Given the description of an element on the screen output the (x, y) to click on. 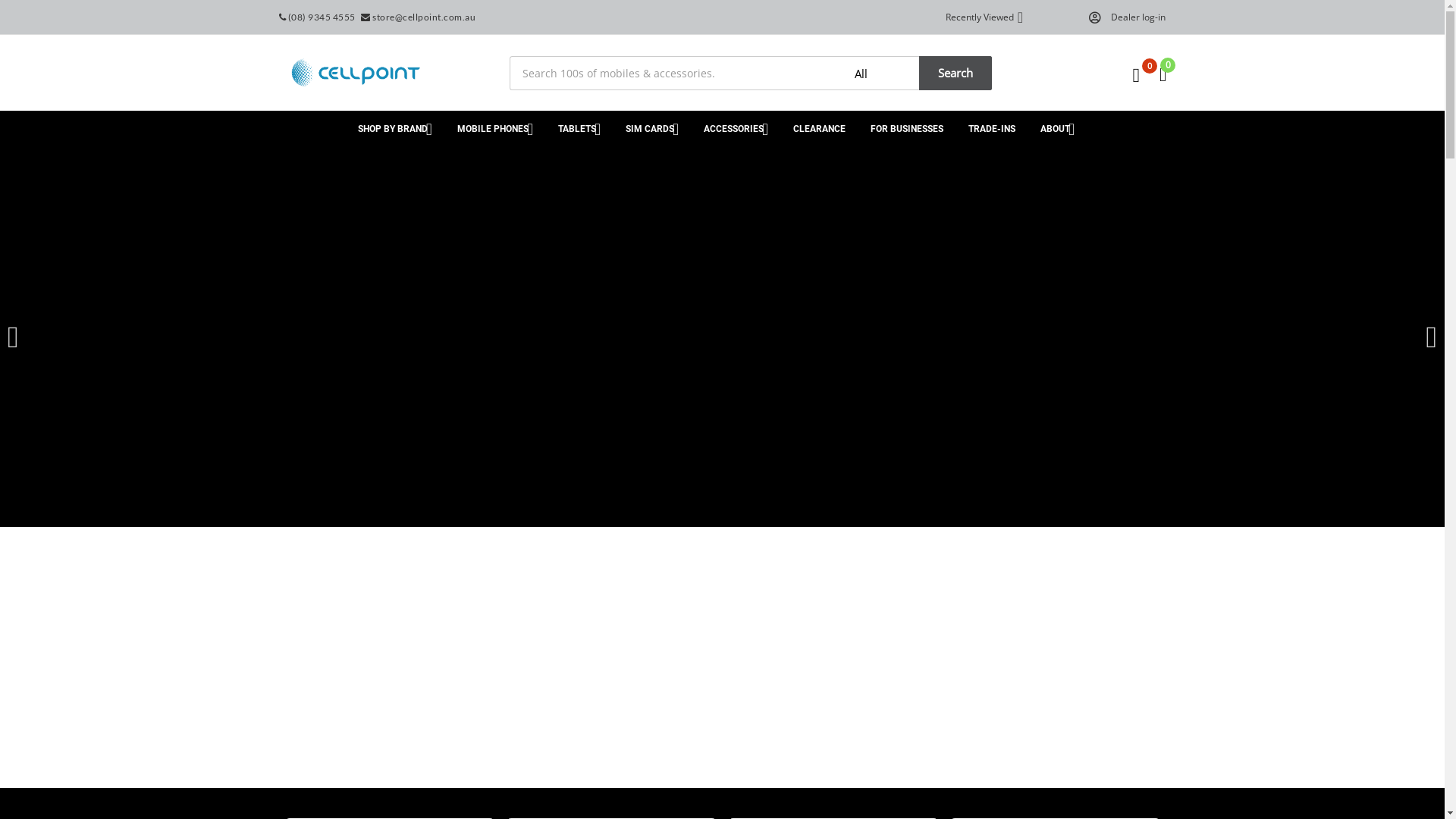
ACCESSORIES Element type: text (726, 128)
TRADE-INS Element type: text (996, 128)
TABLETS Element type: text (574, 128)
MOBILE PHONES Element type: text (491, 128)
0 Element type: text (1135, 74)
(08) 9345 4555 Element type: text (318, 17)
FOR BUSINESSES Element type: text (906, 128)
Search Element type: text (953, 73)
SHOP BY BRAND Element type: text (391, 128)
SIM CARDS Element type: text (644, 128)
store@cellpoint.com.au Element type: text (419, 17)
ABOUT Element type: text (1061, 128)
 Dealer log-in Element type: text (1132, 16)
0 Element type: text (1162, 74)
CLEARANCE Element type: text (812, 128)
